Given the description of an element on the screen output the (x, y) to click on. 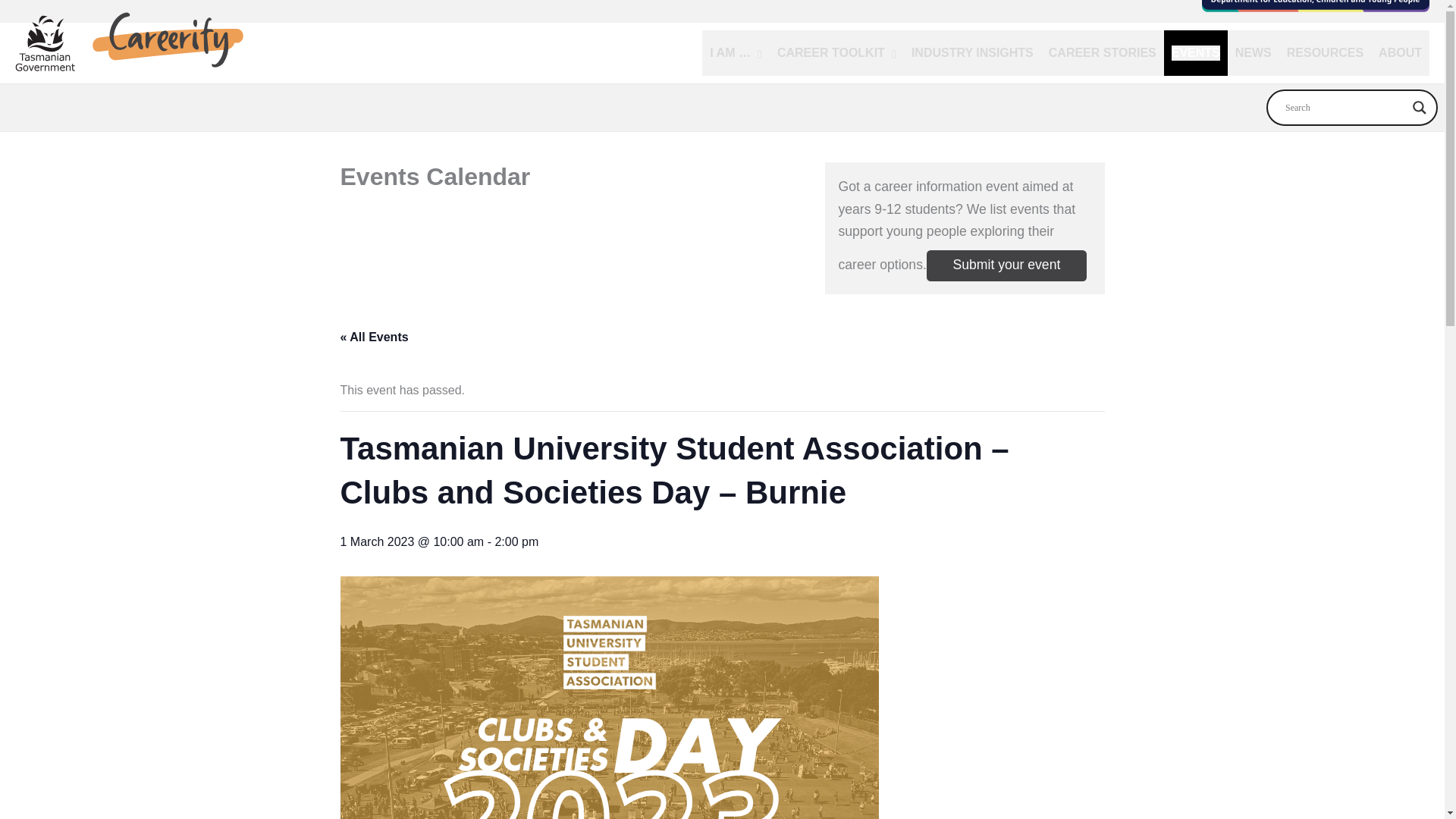
CAREER TOOLKIT (837, 53)
